Given the description of an element on the screen output the (x, y) to click on. 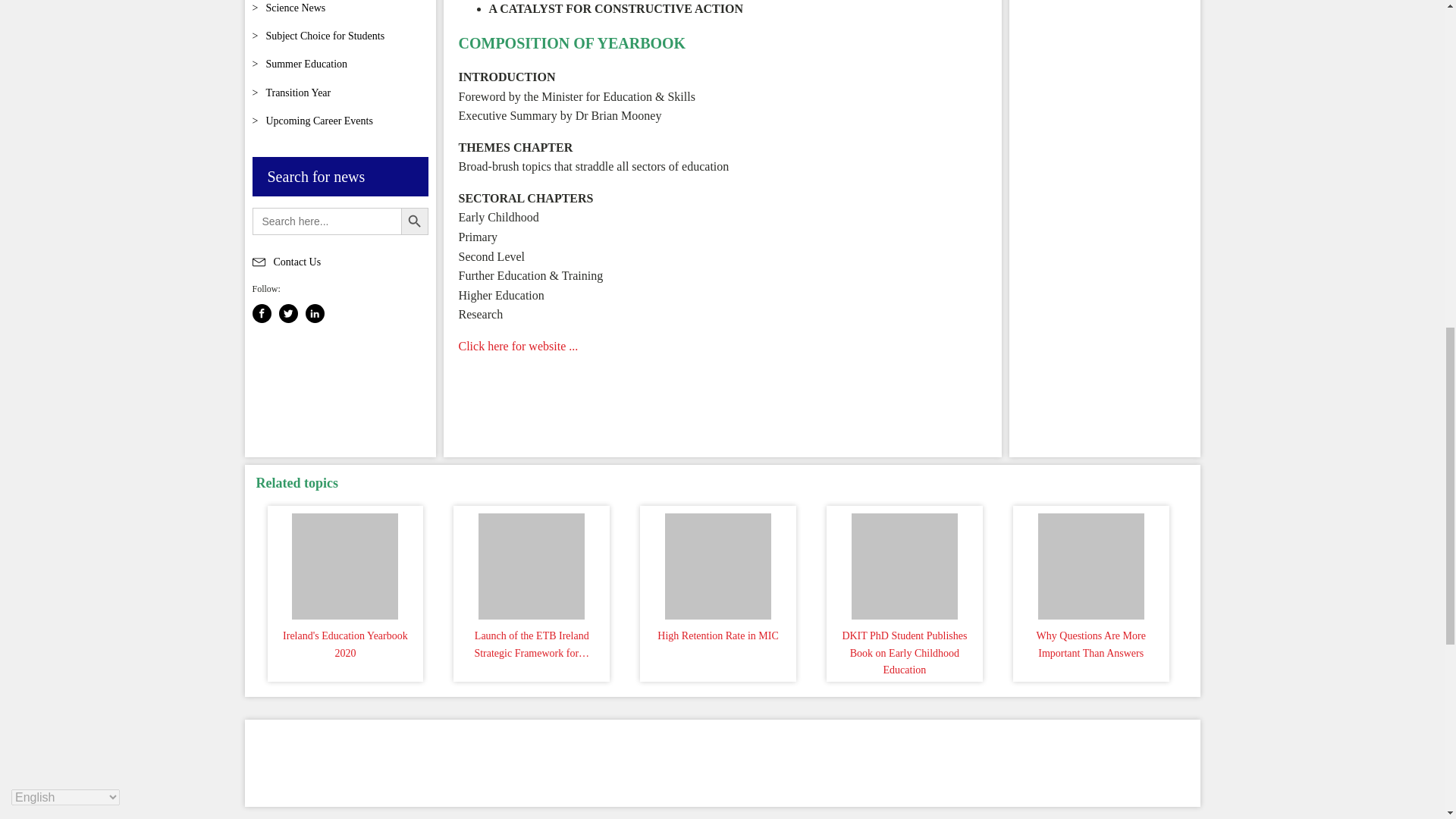
Why Questions Are More Important Than Answers (1091, 562)
DKIT PhD Student Publishes Book on Early Childhood Education (903, 562)
High Retention Rate in MIC (717, 562)
Ireland's Education Yearbook 2020 (345, 562)
